Given the description of an element on the screen output the (x, y) to click on. 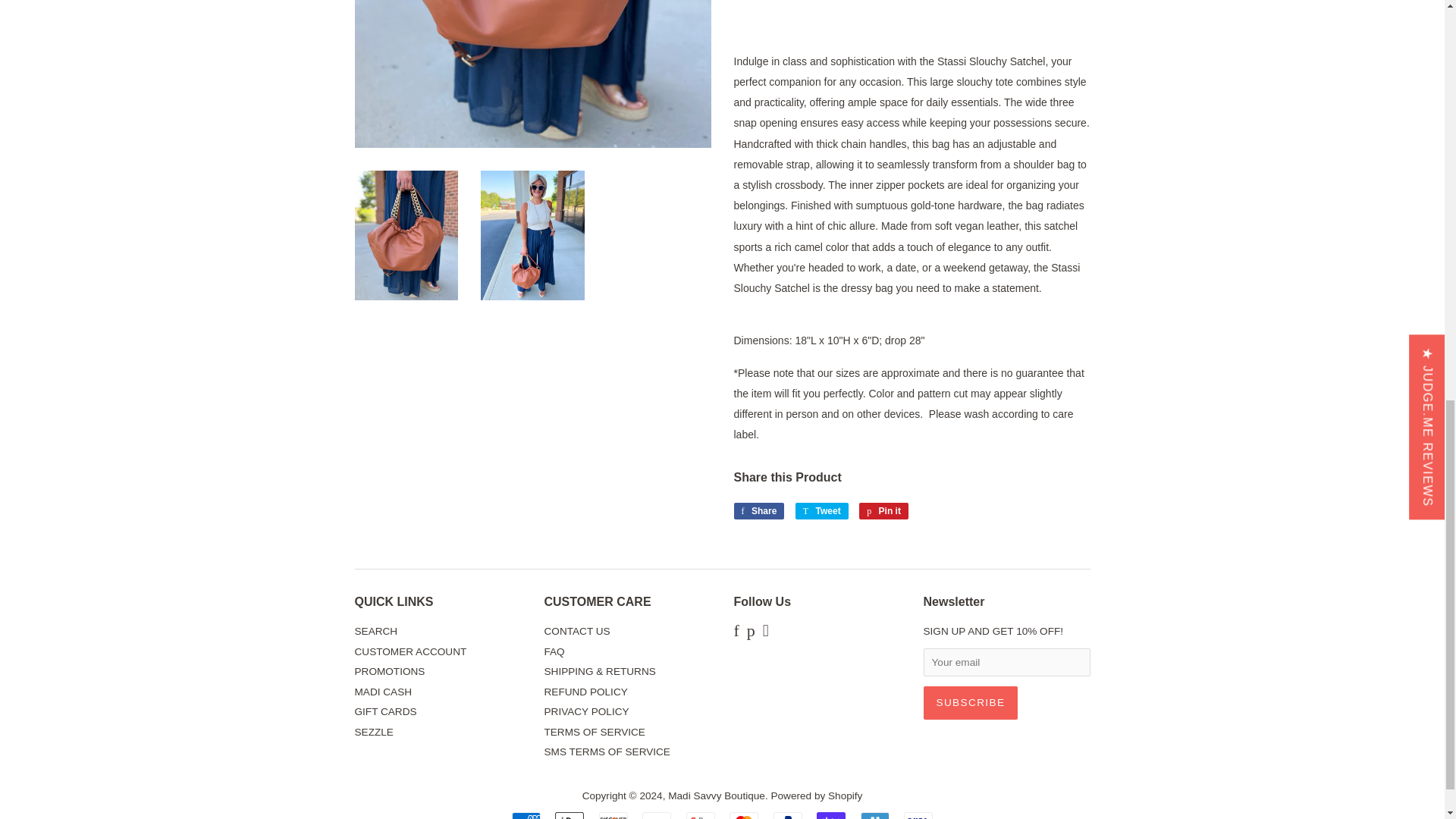
Subscribe (970, 702)
Visa (918, 815)
Tweet on Twitter (821, 510)
Shop Pay (830, 815)
PayPal (787, 815)
American Express (526, 815)
Apple Pay (568, 815)
Meta Pay (656, 815)
Google Pay (699, 815)
Mastercard (743, 815)
Share on Facebook (758, 510)
Venmo (874, 815)
Discover (612, 815)
Pin on Pinterest (883, 510)
